Given the description of an element on the screen output the (x, y) to click on. 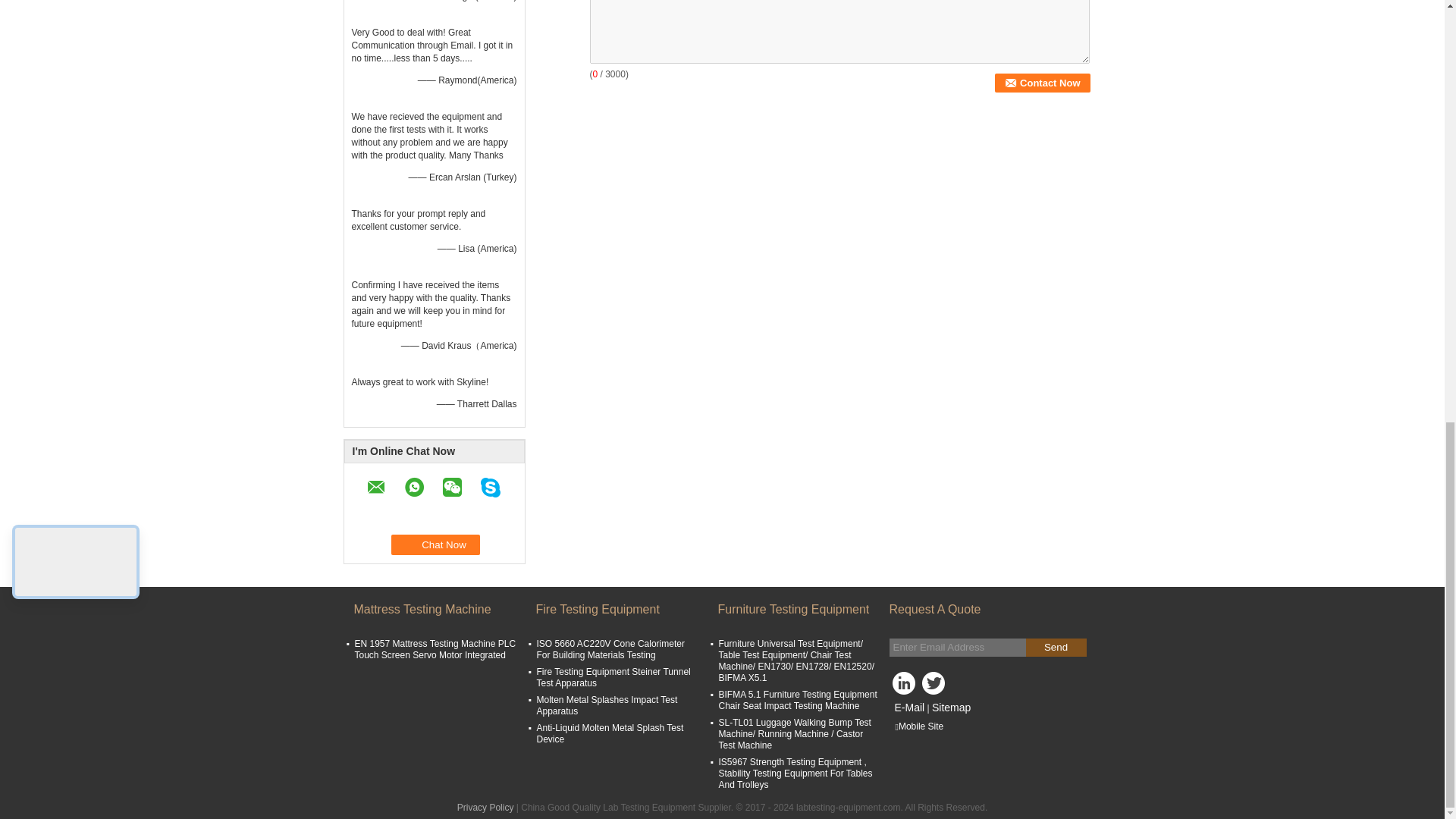
Contact Now (1041, 82)
Chat Now (435, 544)
